Given the description of an element on the screen output the (x, y) to click on. 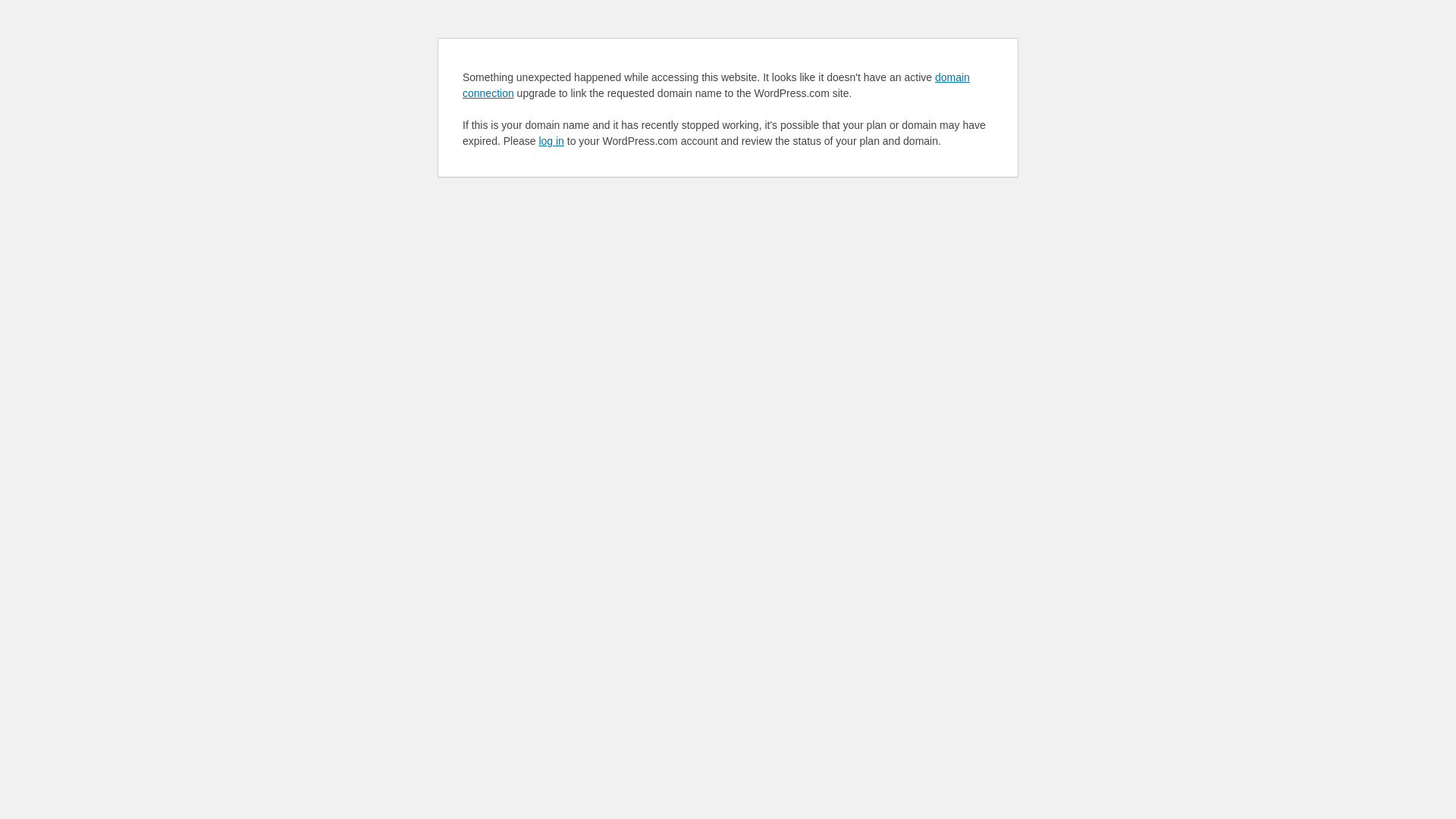
domain connection Element type: text (715, 85)
log in Element type: text (550, 140)
